Given the description of an element on the screen output the (x, y) to click on. 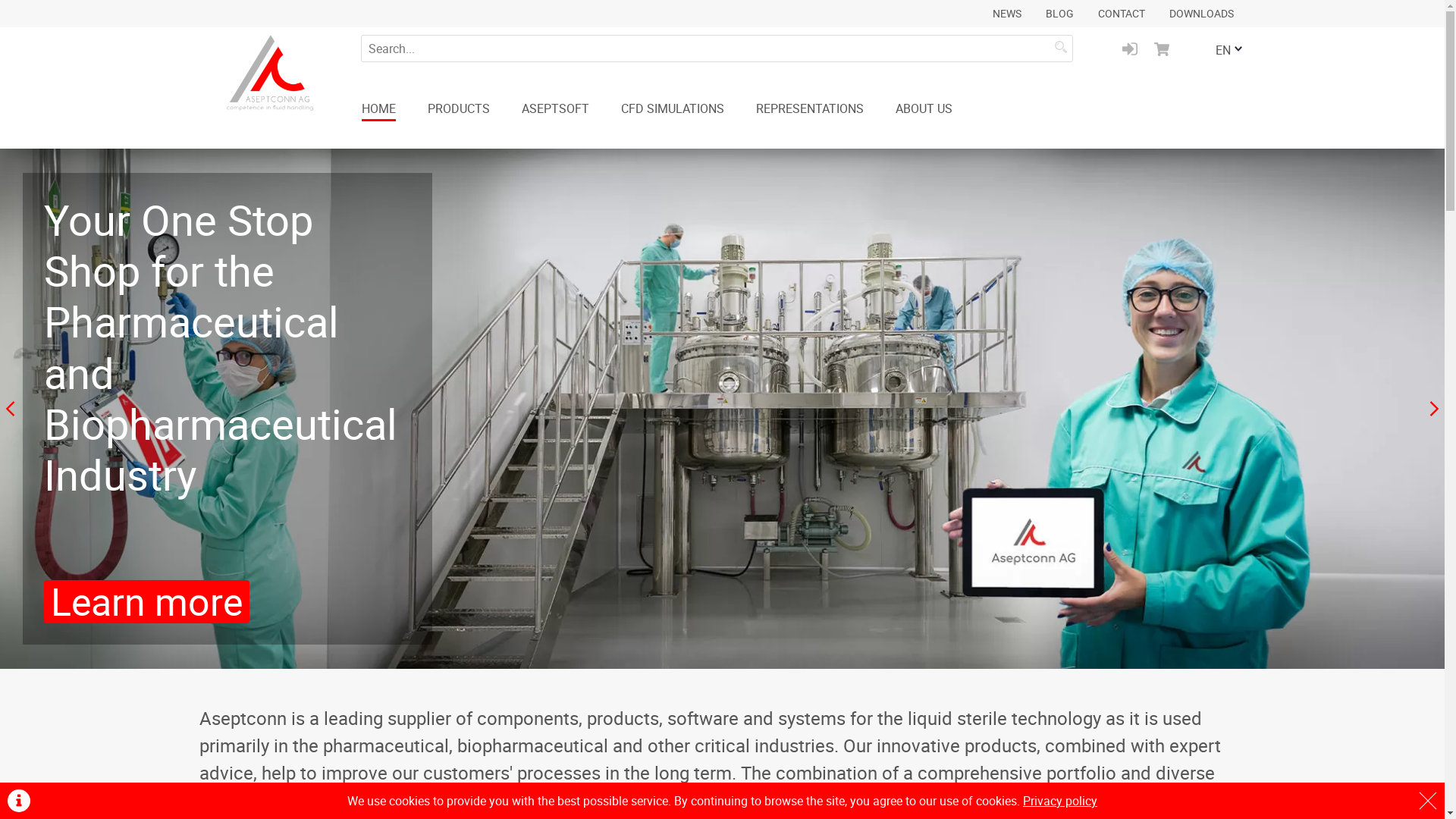
REPRESENTATIONS Element type: text (808, 109)
PRODUCTS Element type: text (458, 109)
ASEPTSOFT Element type: text (555, 109)
BLOG Element type: text (1058, 13)
ABOUT US Element type: text (922, 109)
CFD SIMULATIONS Element type: text (671, 109)
DOWNLOADS Element type: text (1201, 13)
CONTACT Element type: text (1121, 13)
Privacy policy Element type: text (1059, 800)
NEWS Element type: text (1005, 13)
HOME Element type: text (377, 110)
Learn more Element type: text (272, 522)
